Given the description of an element on the screen output the (x, y) to click on. 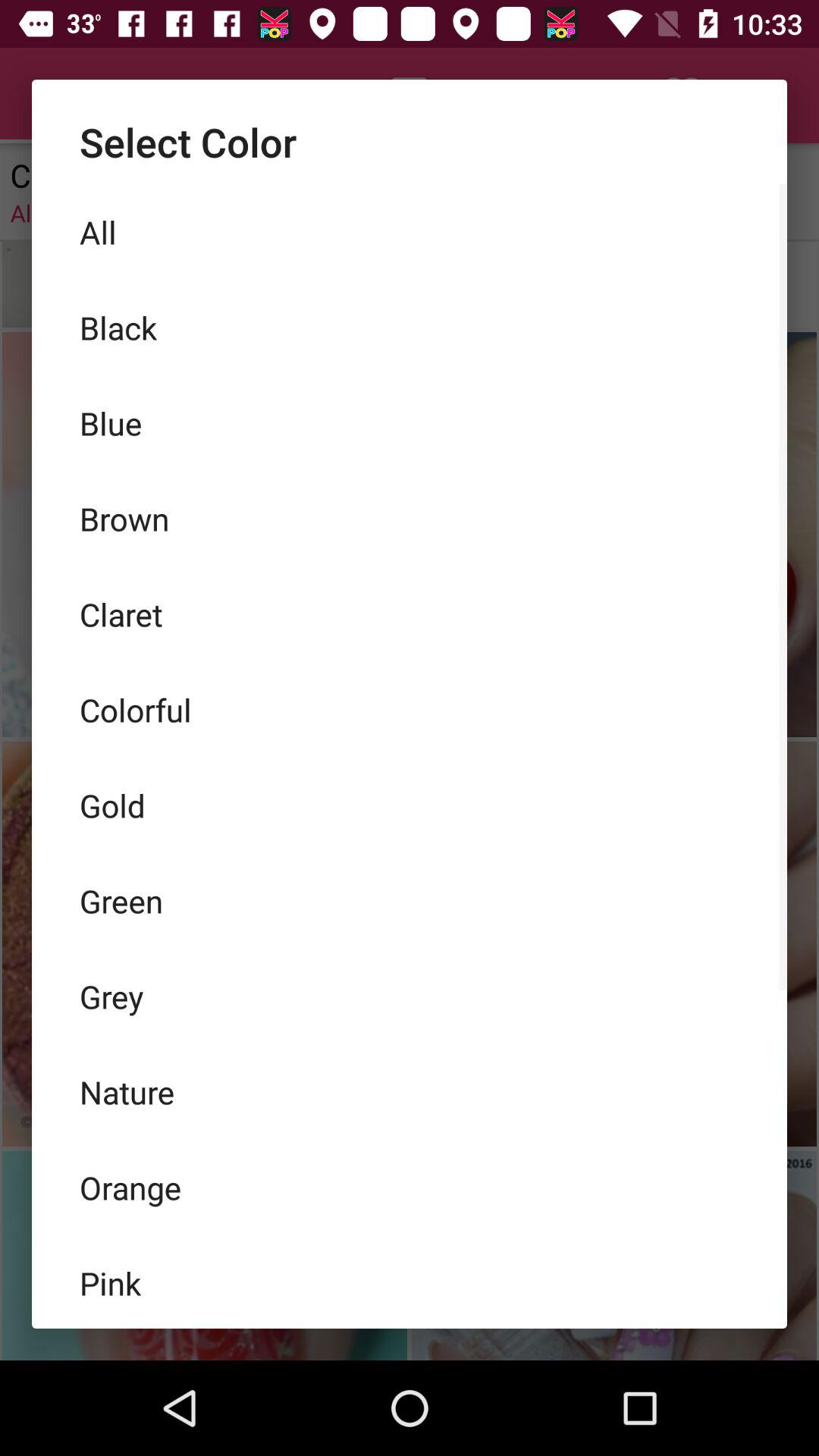
flip until nature item (409, 1091)
